Given the description of an element on the screen output the (x, y) to click on. 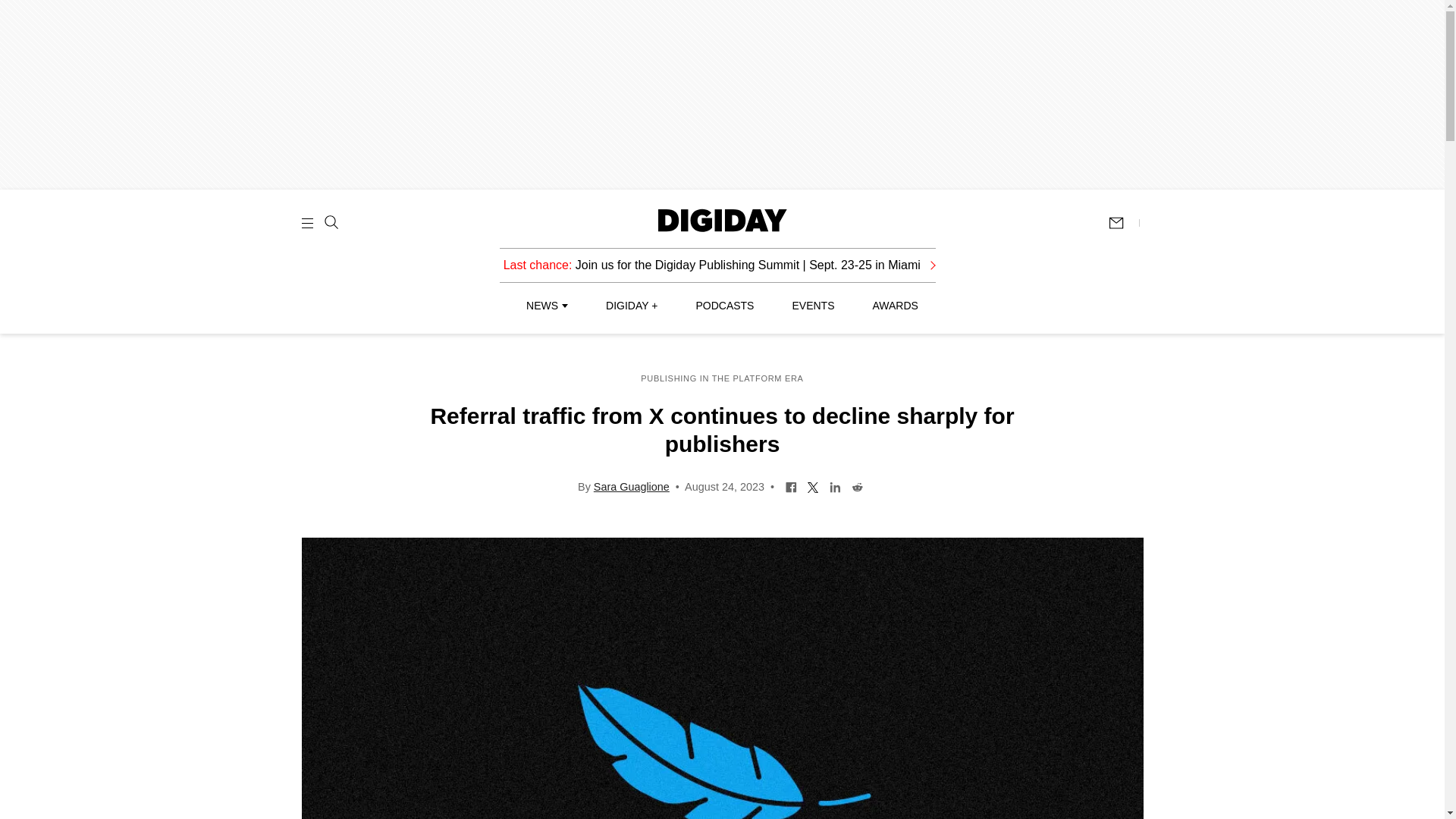
Share on Reddit (856, 485)
EVENTS (813, 305)
Share on Twitter (812, 485)
AWARDS (894, 305)
PODCASTS (725, 305)
Share on LinkedIn (834, 485)
Share on Facebook (790, 485)
Subscribe (1123, 223)
NEWS (546, 305)
